Given the description of an element on the screen output the (x, y) to click on. 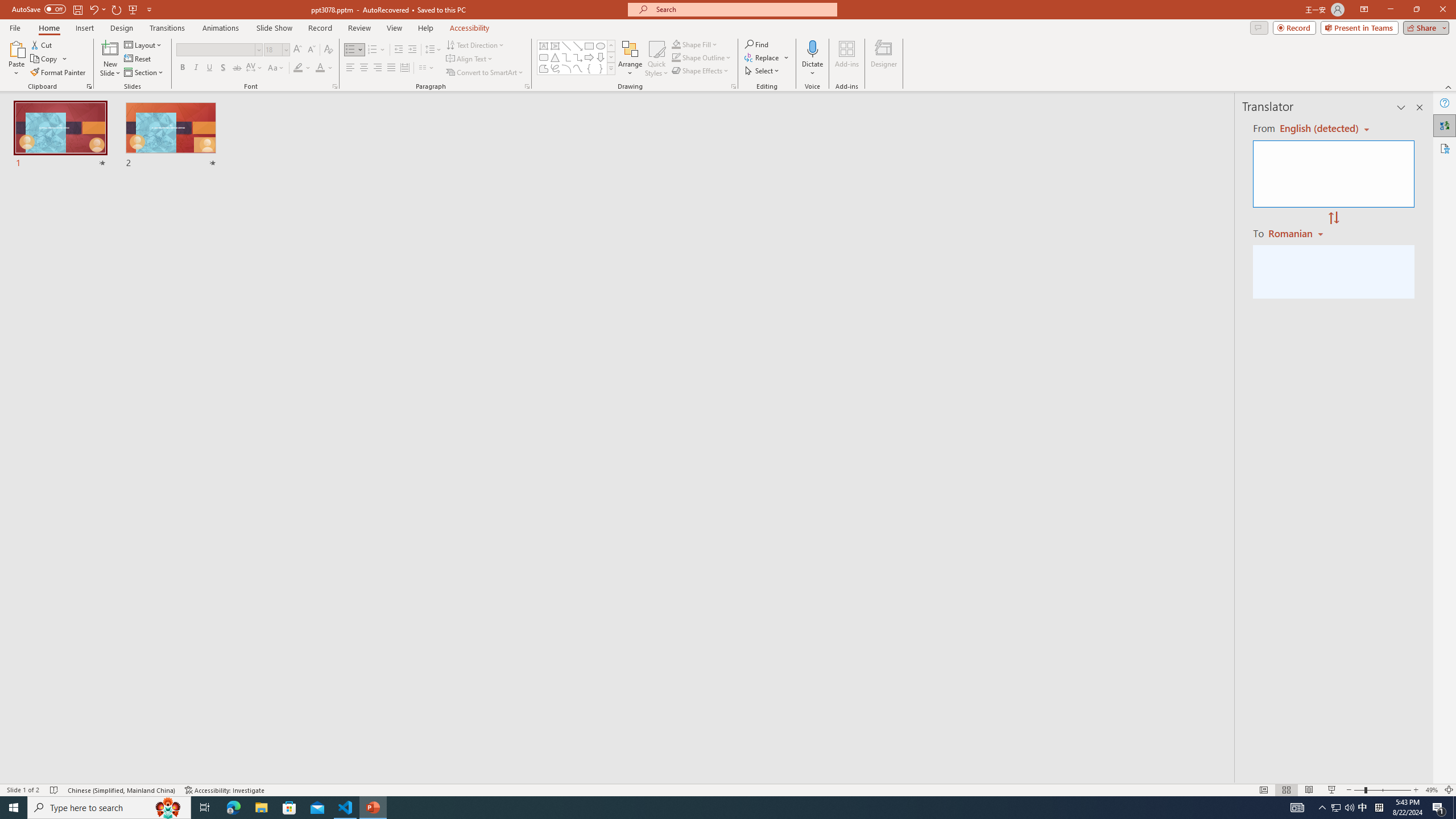
Shape Fill Dark Green, Accent 2 (675, 44)
